Given the description of an element on the screen output the (x, y) to click on. 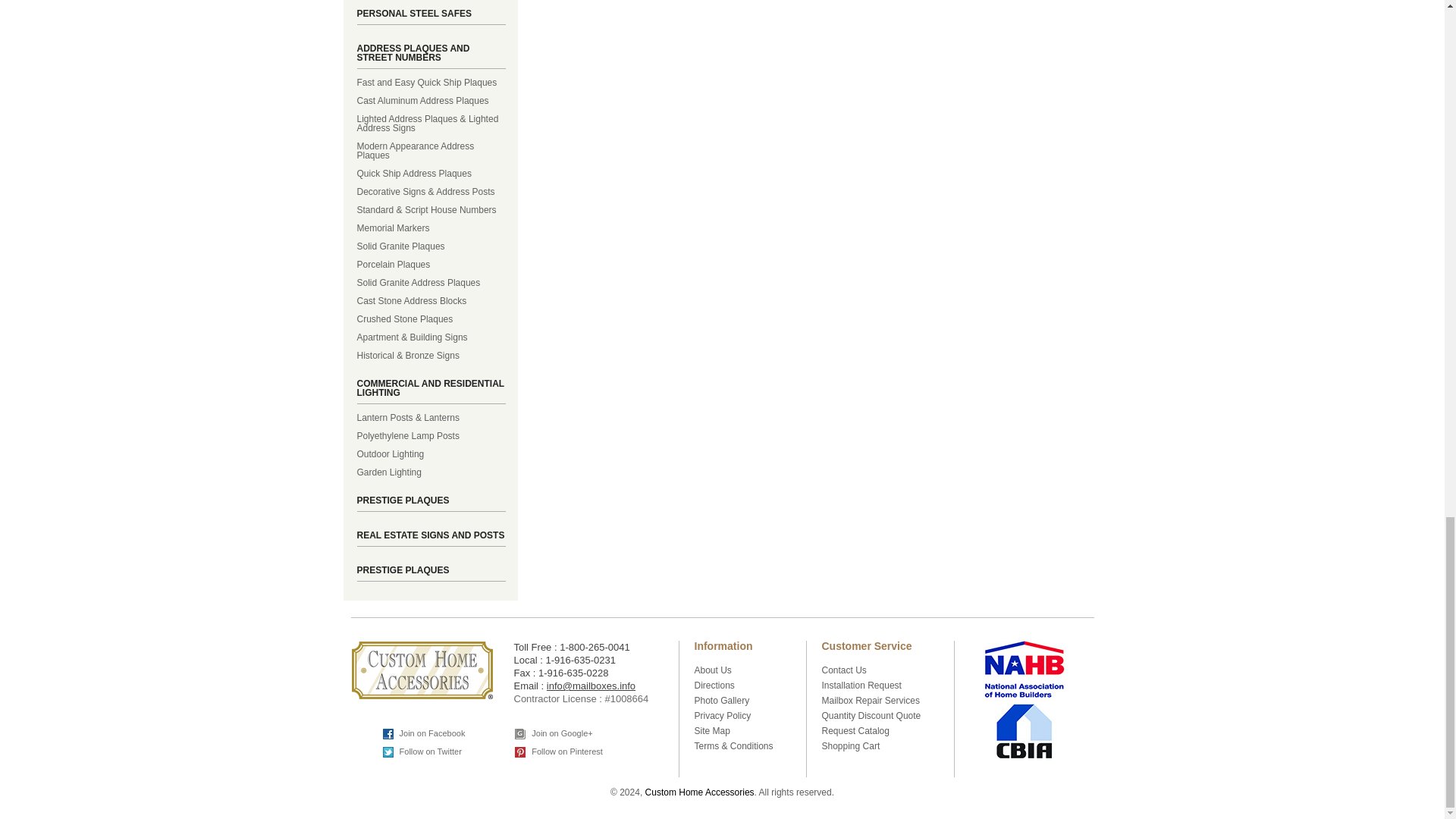
Mailboxes.info (421, 670)
